Given the description of an element on the screen output the (x, y) to click on. 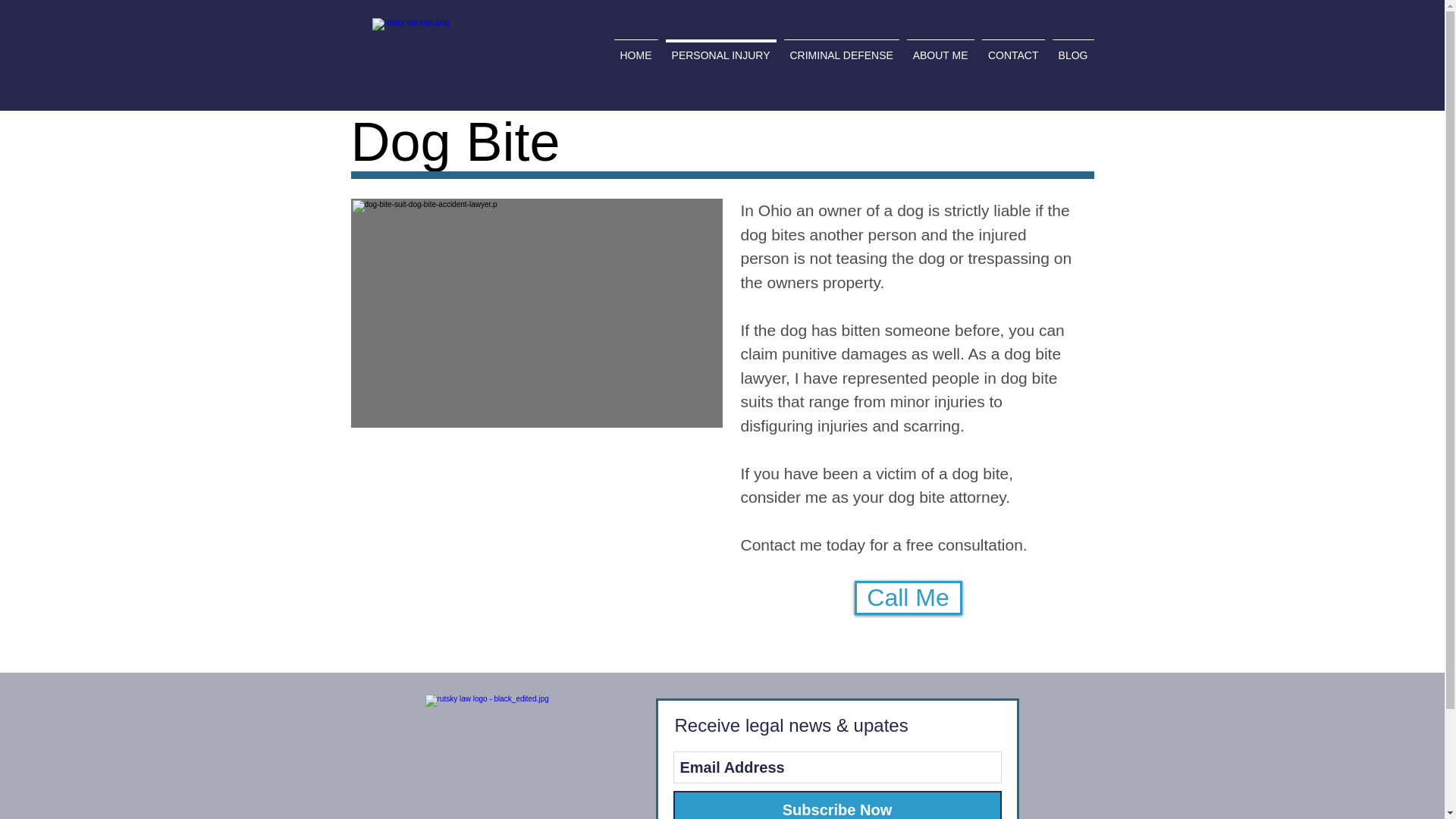
HOME (635, 48)
BLOG (1072, 48)
Call Me (906, 597)
PERSONAL INJURY (719, 48)
ABOUT ME (939, 48)
Subscribe Now (836, 805)
CRIMINAL DEFENSE (840, 48)
CONTACT (1013, 48)
